Given the description of an element on the screen output the (x, y) to click on. 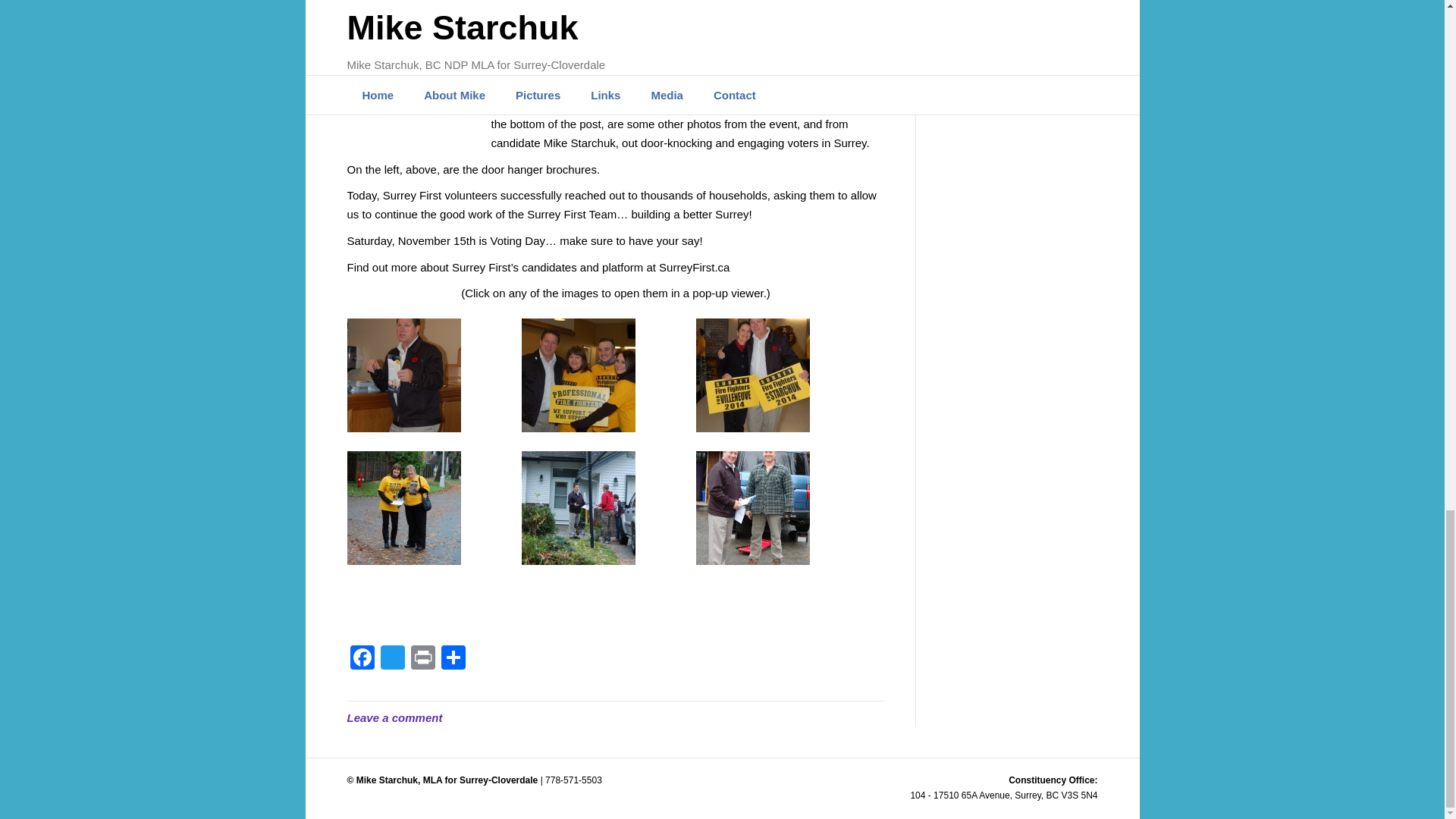
Leave a comment (394, 717)
Print (422, 659)
Twitter (392, 659)
Twitter (392, 659)
Print (422, 659)
Facebook (362, 659)
Facebook (362, 659)
